Given the description of an element on the screen output the (x, y) to click on. 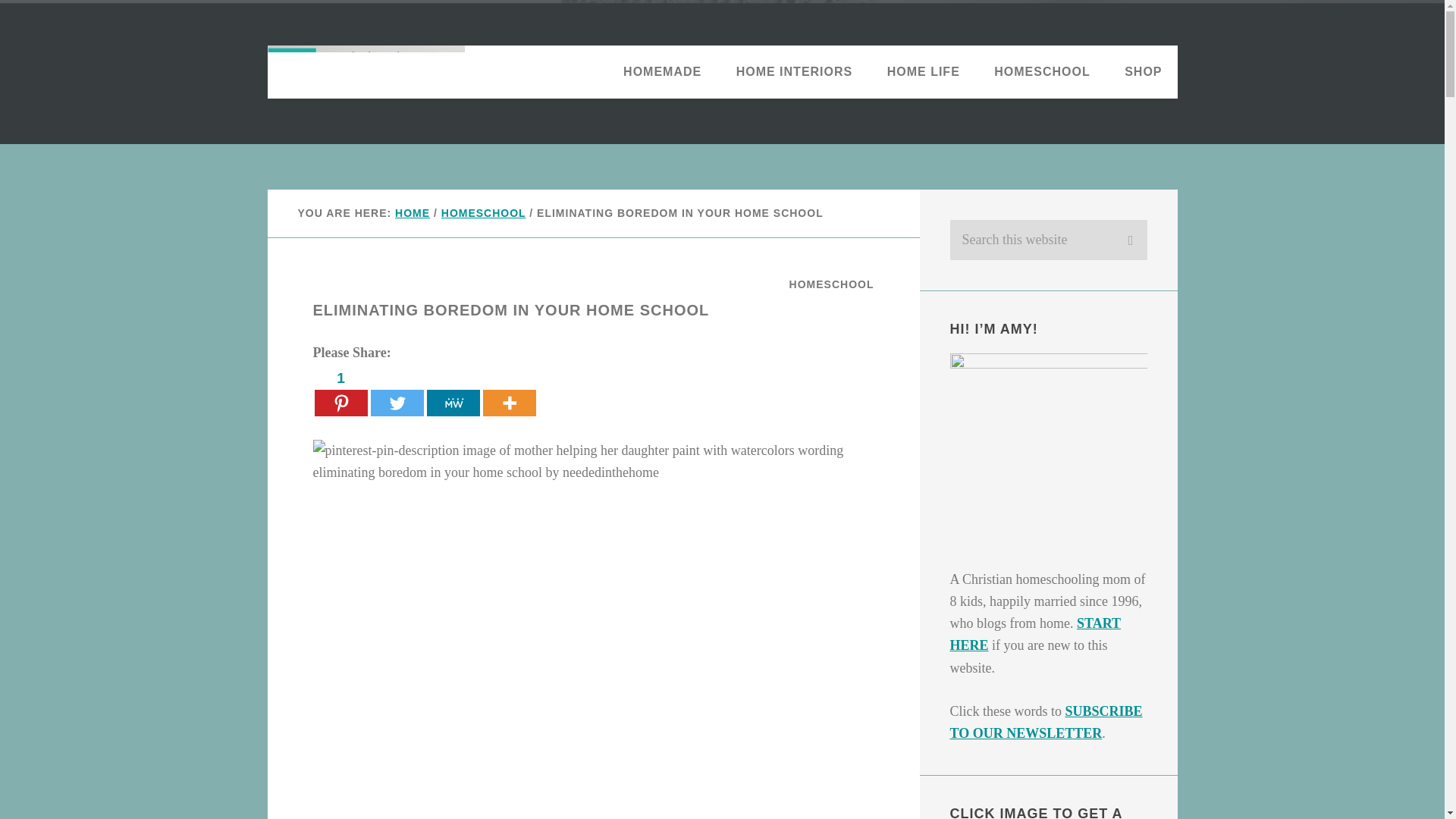
HOME LIFE (923, 71)
MeWe (452, 391)
HOMEMADE (662, 71)
NeededInTheHome (365, 71)
Pinterest (340, 391)
More (508, 391)
Twitter (396, 391)
HOME INTERIORS (793, 71)
